Given the description of an element on the screen output the (x, y) to click on. 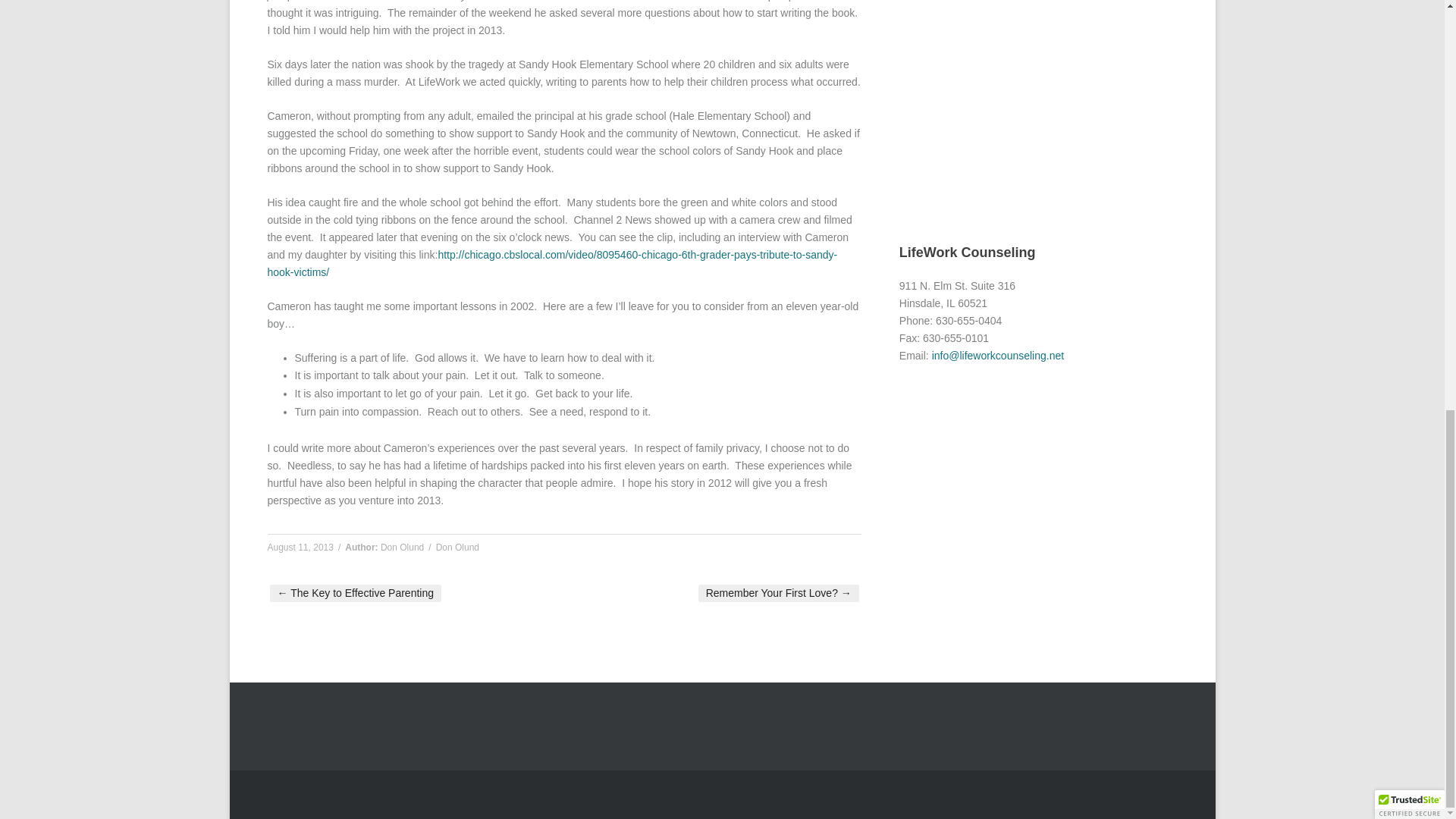
View all posts by Don Olund (401, 547)
Don Olund (401, 547)
Don Olund (457, 547)
